Given the description of an element on the screen output the (x, y) to click on. 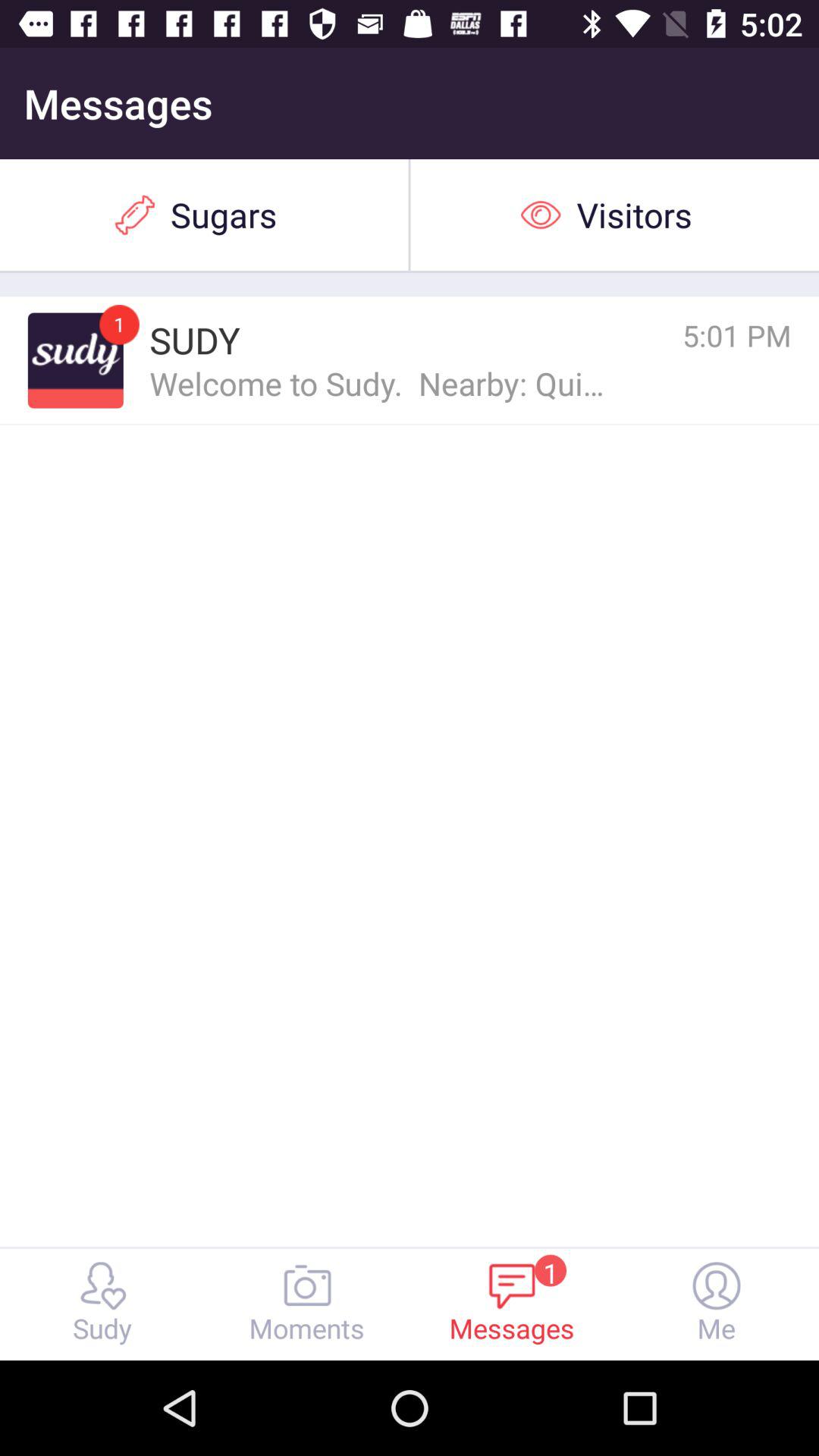
turn off icon next to sudy icon (669, 335)
